Given the description of an element on the screen output the (x, y) to click on. 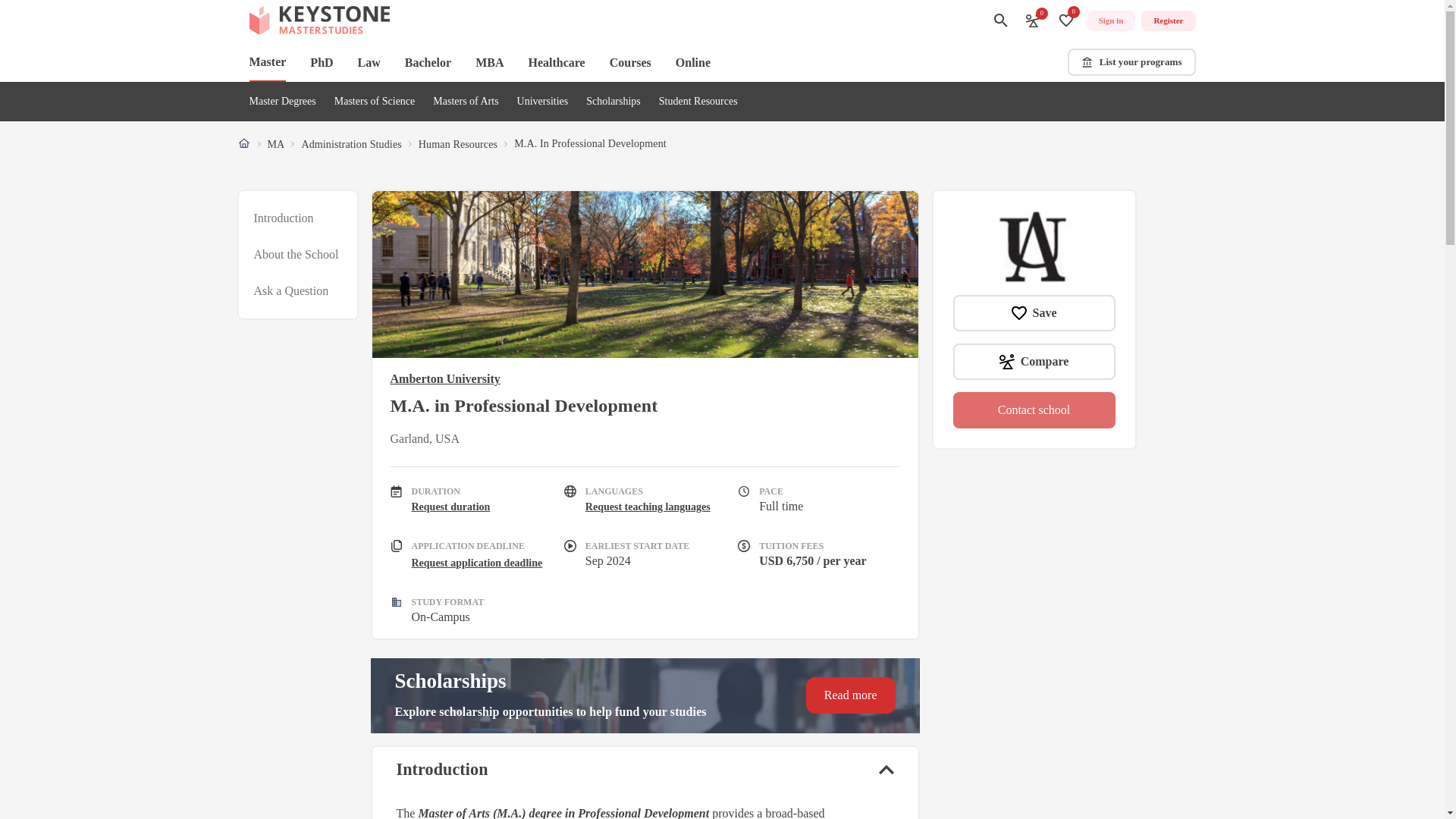
Healthcare (556, 63)
Master Degrees (281, 101)
Administration Studies (351, 144)
Online (296, 254)
Law (692, 63)
Masters of Arts (369, 63)
Courses (464, 101)
MBA (630, 63)
Scholarships (489, 63)
Master (613, 101)
Universities (266, 62)
0 (542, 101)
0 (1032, 20)
